Given the description of an element on the screen output the (x, y) to click on. 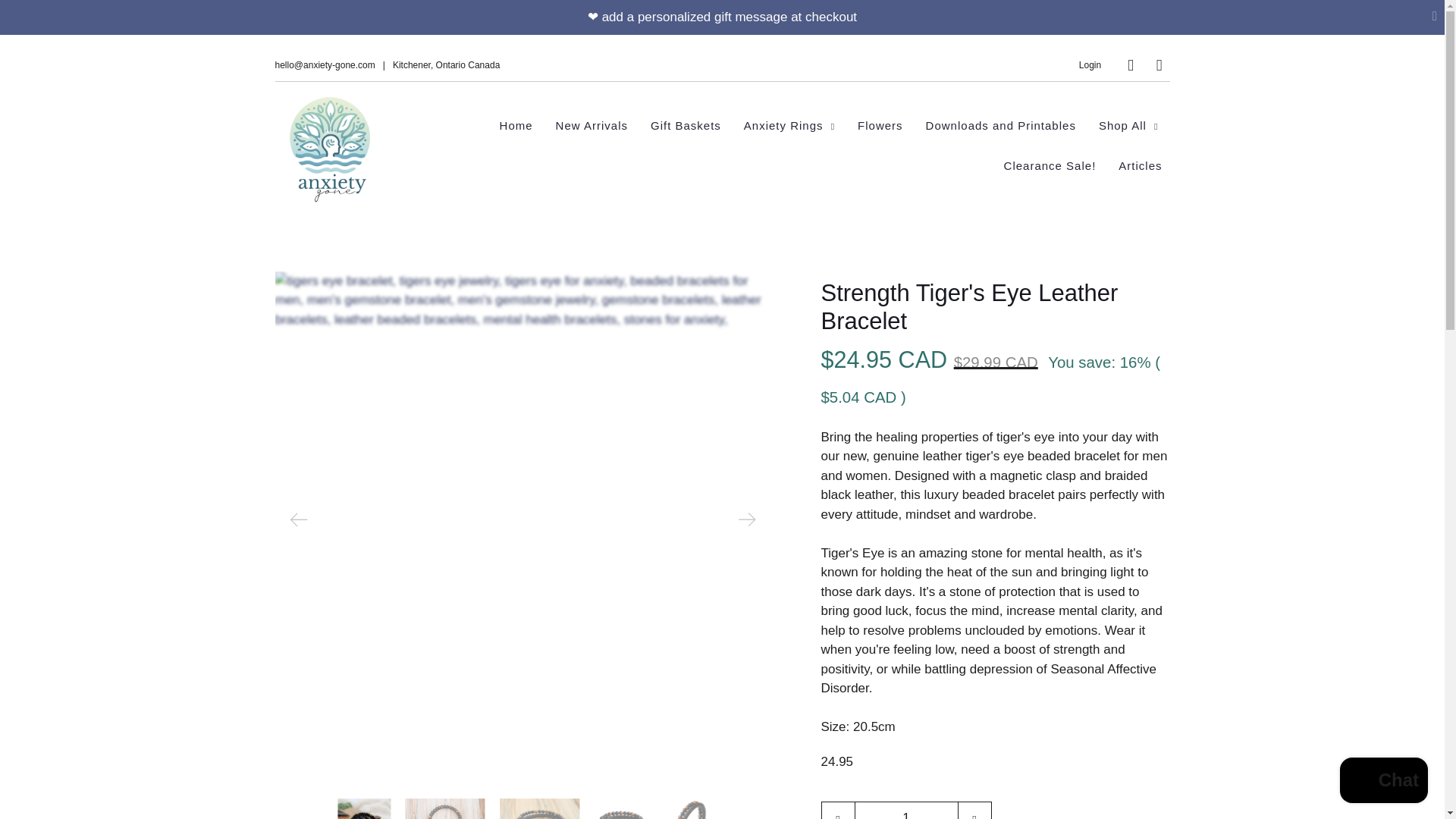
Anxiety Rings (789, 126)
My Account  (1089, 64)
Gift Baskets (686, 126)
Login (1089, 64)
Home (516, 126)
Shop All (1128, 126)
Downloads and Printables (1000, 126)
New Arrivals (591, 126)
1 (905, 810)
